Given the description of an element on the screen output the (x, y) to click on. 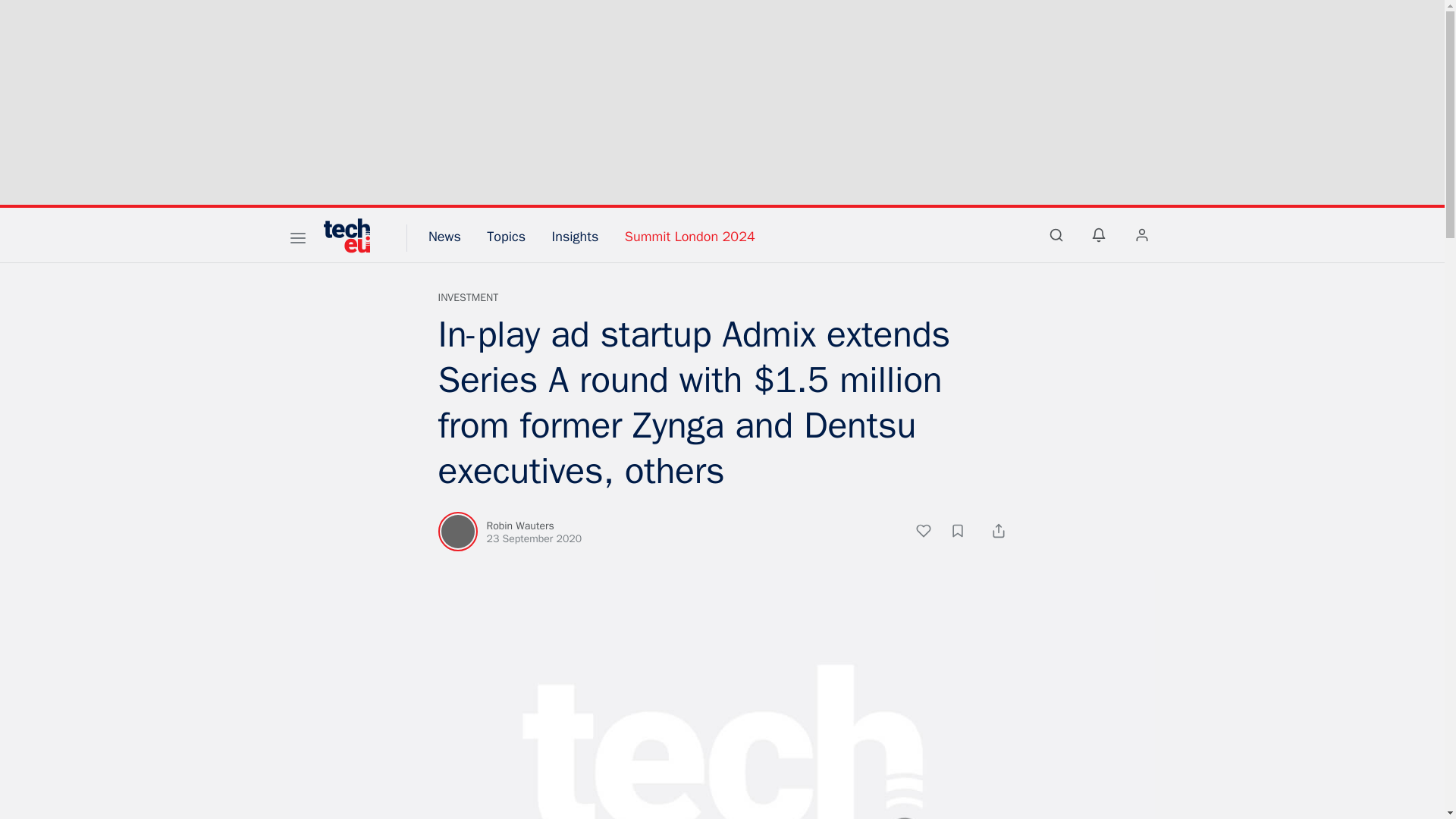
Summit London 2024 (689, 236)
Add to Collection (964, 532)
Like (930, 532)
Topics (505, 236)
Insights (574, 236)
News (444, 236)
Investment (468, 297)
